Given the description of an element on the screen output the (x, y) to click on. 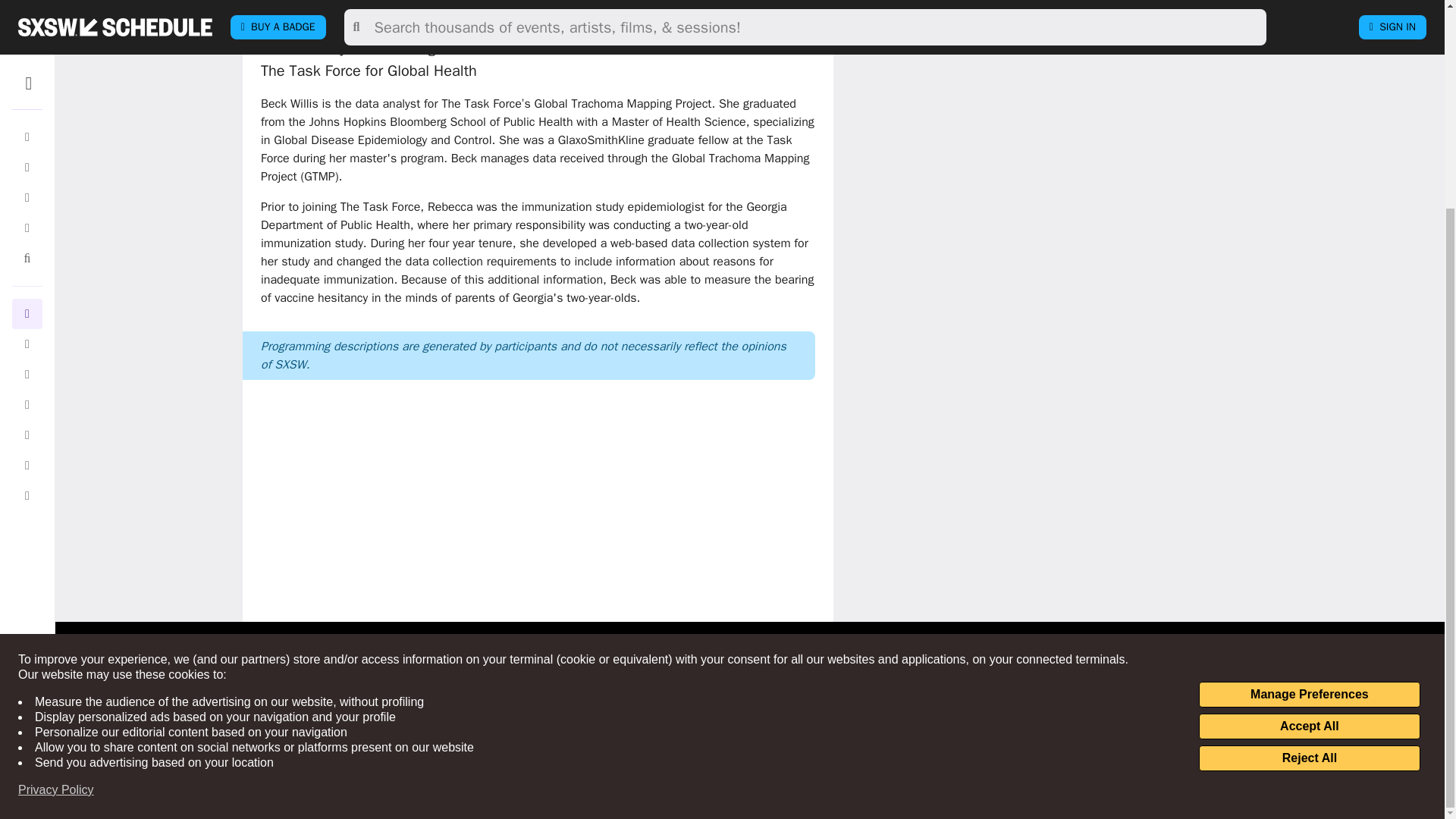
Reject All (1309, 488)
Accept All (1309, 456)
Privacy Policy (55, 519)
Manage Preferences (1309, 424)
